Given the description of an element on the screen output the (x, y) to click on. 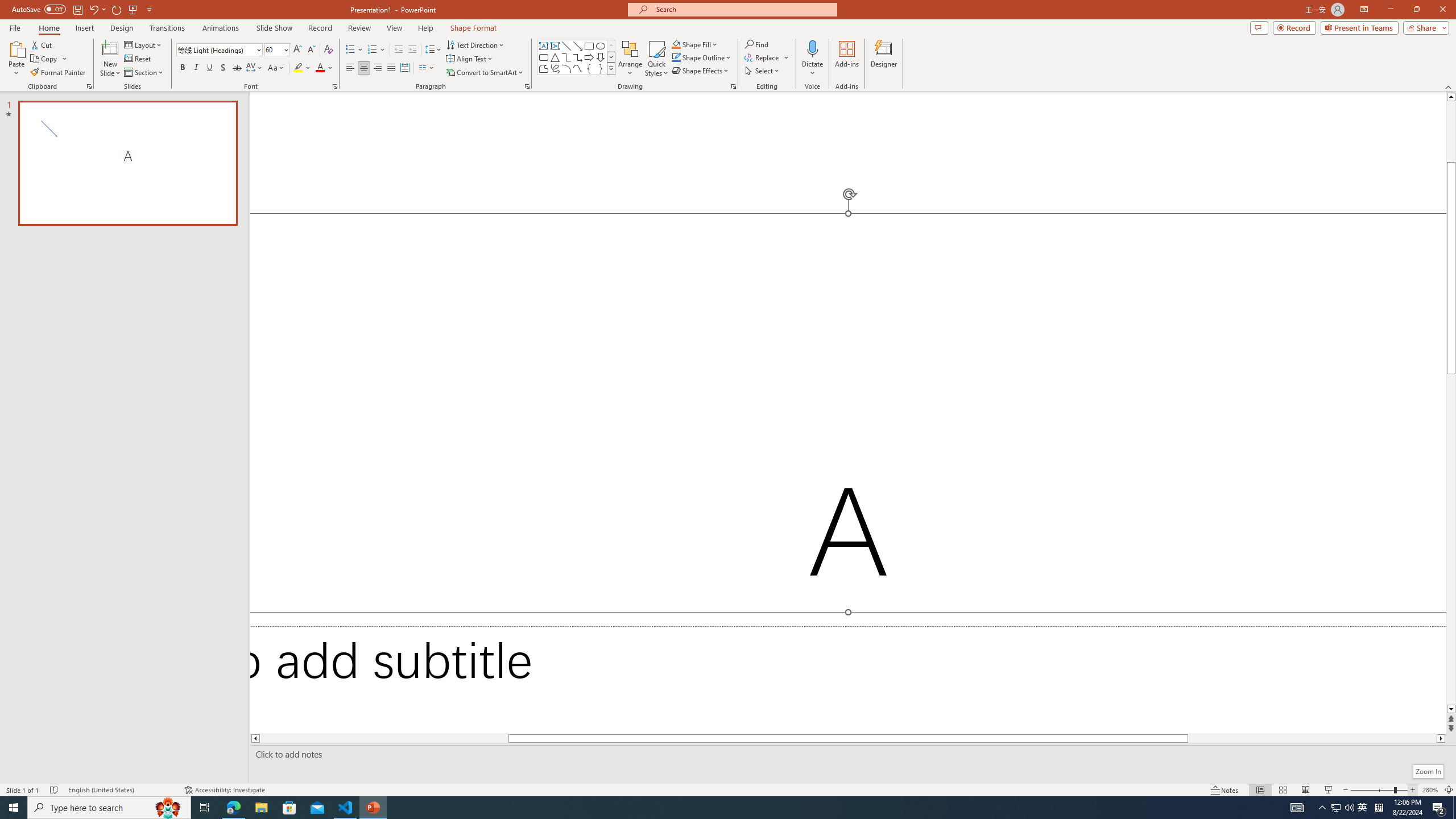
Slide A (127, 163)
